Given the description of an element on the screen output the (x, y) to click on. 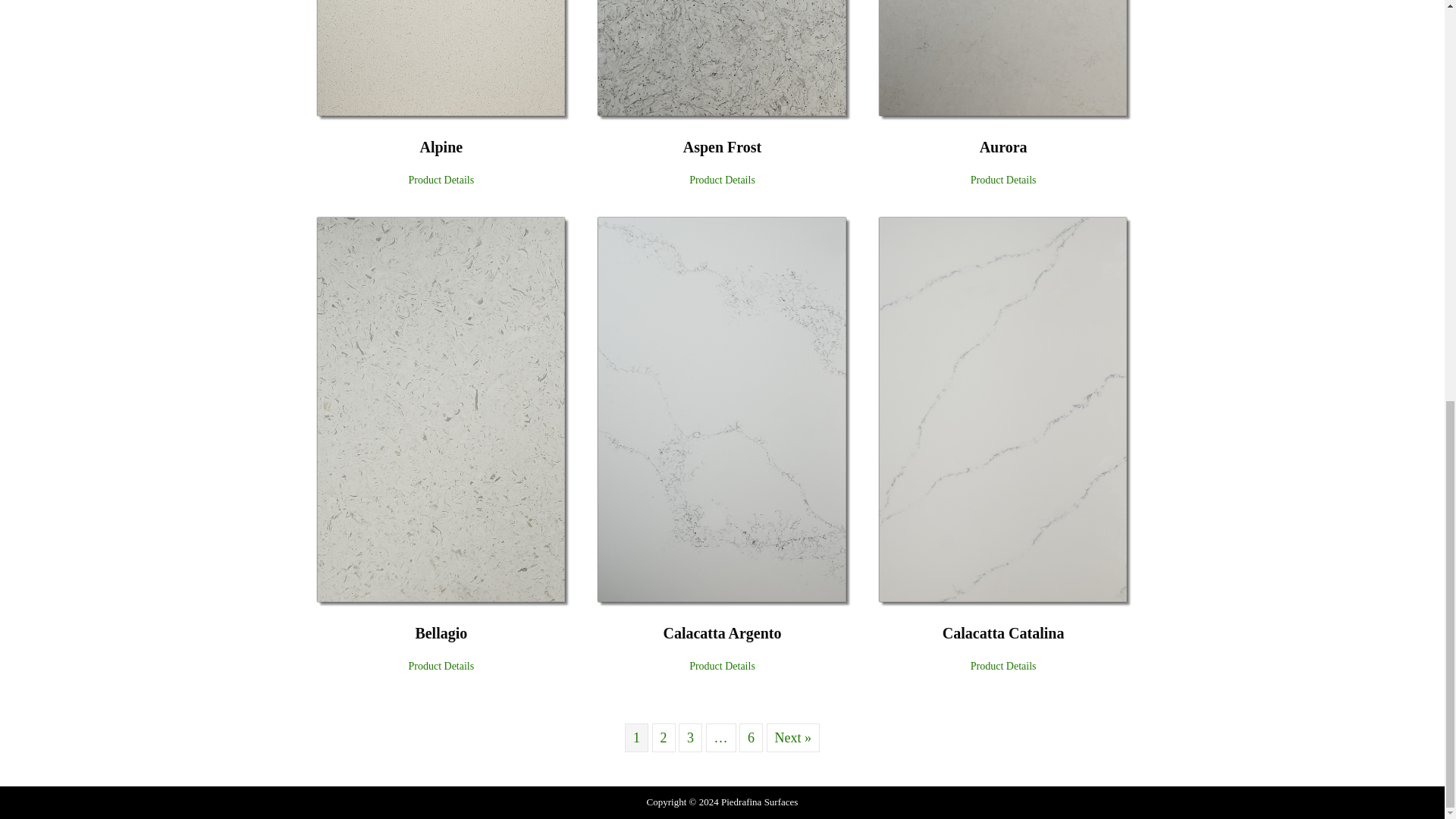
Calacatta Argento (722, 408)
Aspen Frost (721, 146)
Product Details (1003, 180)
Calacatta Catalina (1003, 632)
Bellagio (440, 632)
Alpine (440, 180)
Bellagio (440, 632)
Product Details (721, 666)
Product Details (1003, 666)
Product Details (721, 180)
Aspen Frost (721, 180)
Calacatta Argento (721, 632)
Alpine (441, 146)
Product Details (440, 666)
Aurora (1003, 180)
